Given the description of an element on the screen output the (x, y) to click on. 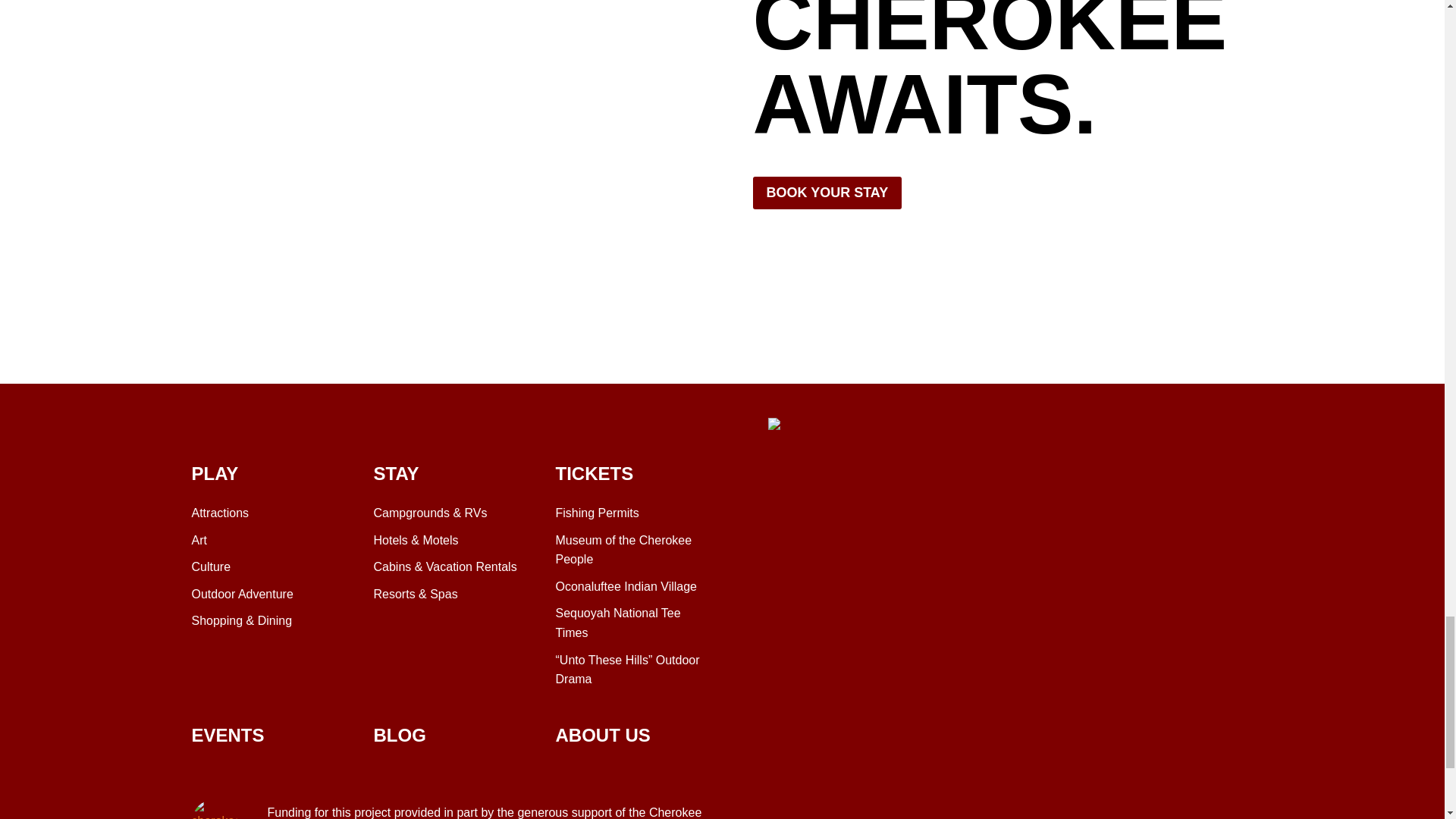
BOOK YOUR STAY (826, 192)
